Given the description of an element on the screen output the (x, y) to click on. 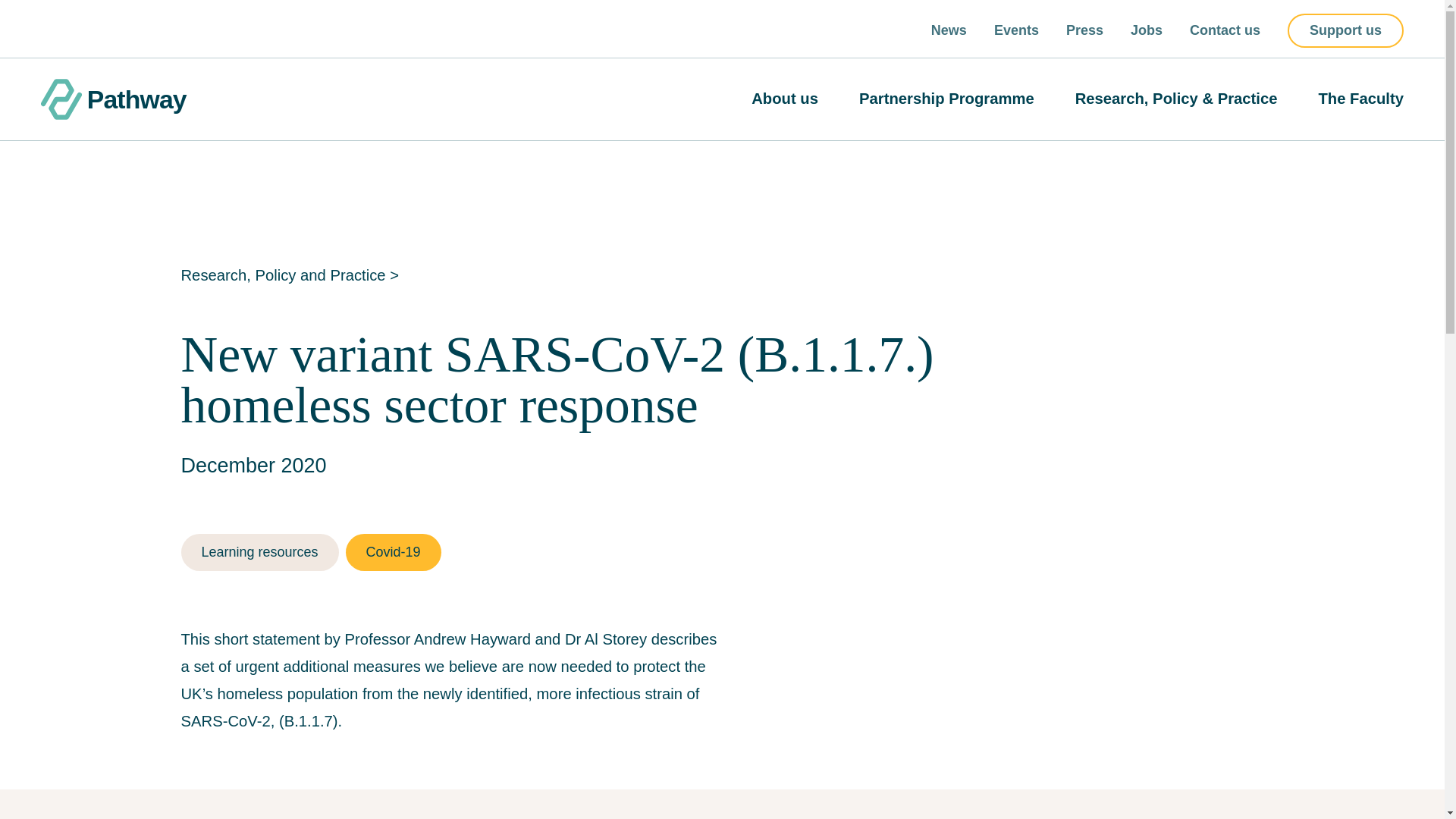
Learning resources (258, 552)
Covid-19 (393, 552)
Press (1084, 30)
News (948, 30)
Events (1016, 30)
Support us (1345, 30)
Jobs (1146, 30)
Partnership Programme (946, 98)
Pathway (113, 99)
Contact us (1224, 30)
About us (784, 98)
The Faculty (1360, 98)
